Given the description of an element on the screen output the (x, y) to click on. 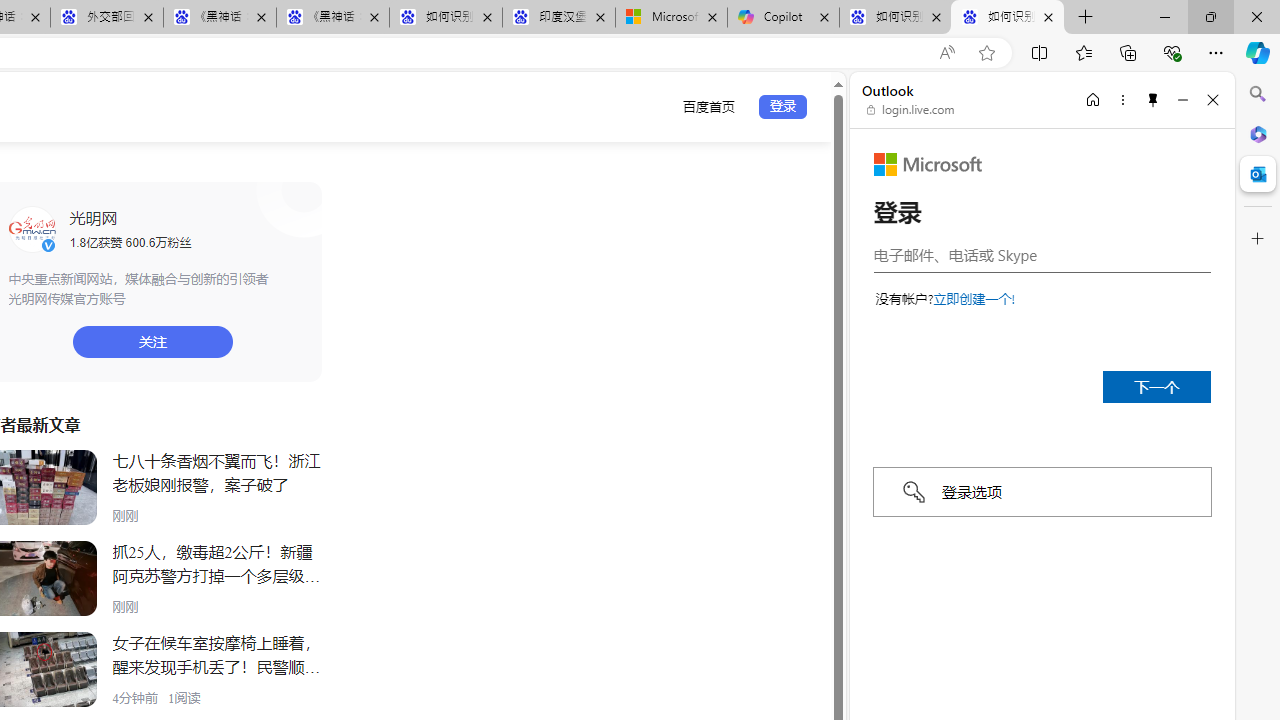
login.live.com (911, 110)
